Given the description of an element on the screen output the (x, y) to click on. 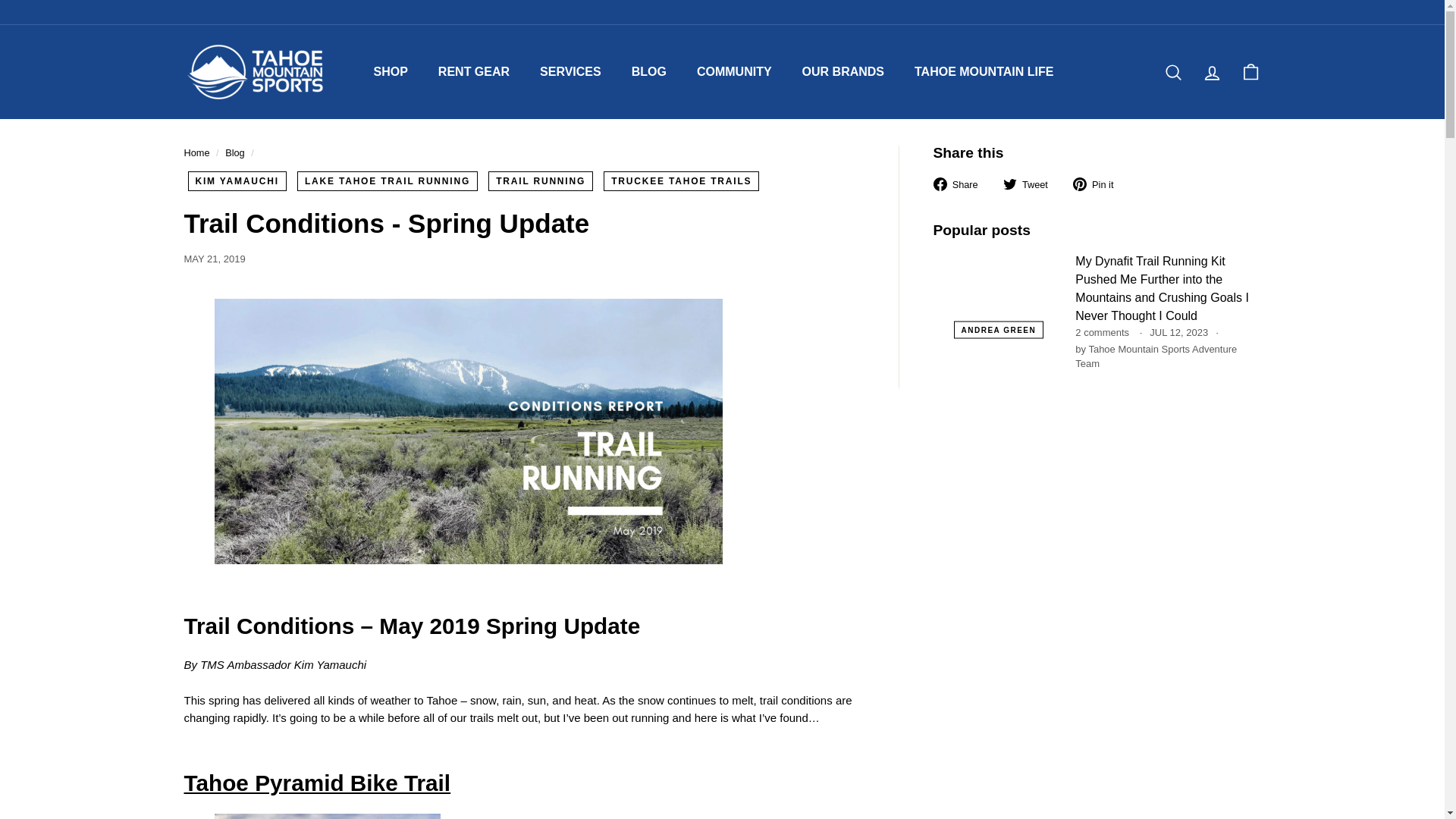
SHOP (390, 72)
Pin on Pinterest (1099, 183)
Share on Facebook (960, 183)
Back to the frontpage (196, 152)
Tweet on Twitter (1031, 183)
